Given the description of an element on the screen output the (x, y) to click on. 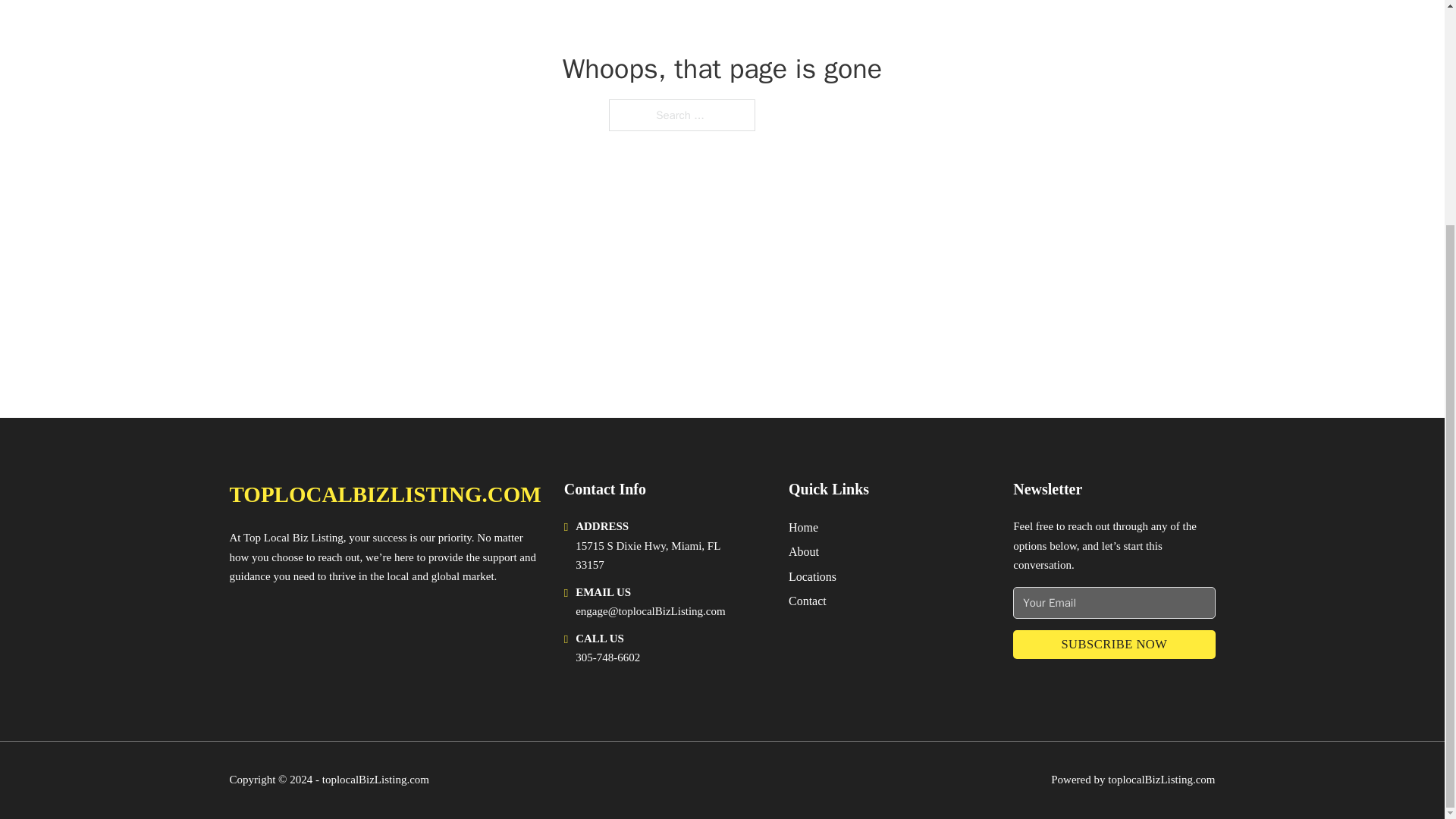
TOPLOCALBIZLISTING.COM (384, 494)
305-748-6602 (607, 657)
Contact (808, 600)
Locations (812, 576)
SUBSCRIBE NOW (1113, 644)
Home (803, 526)
About (803, 551)
